Given the description of an element on the screen output the (x, y) to click on. 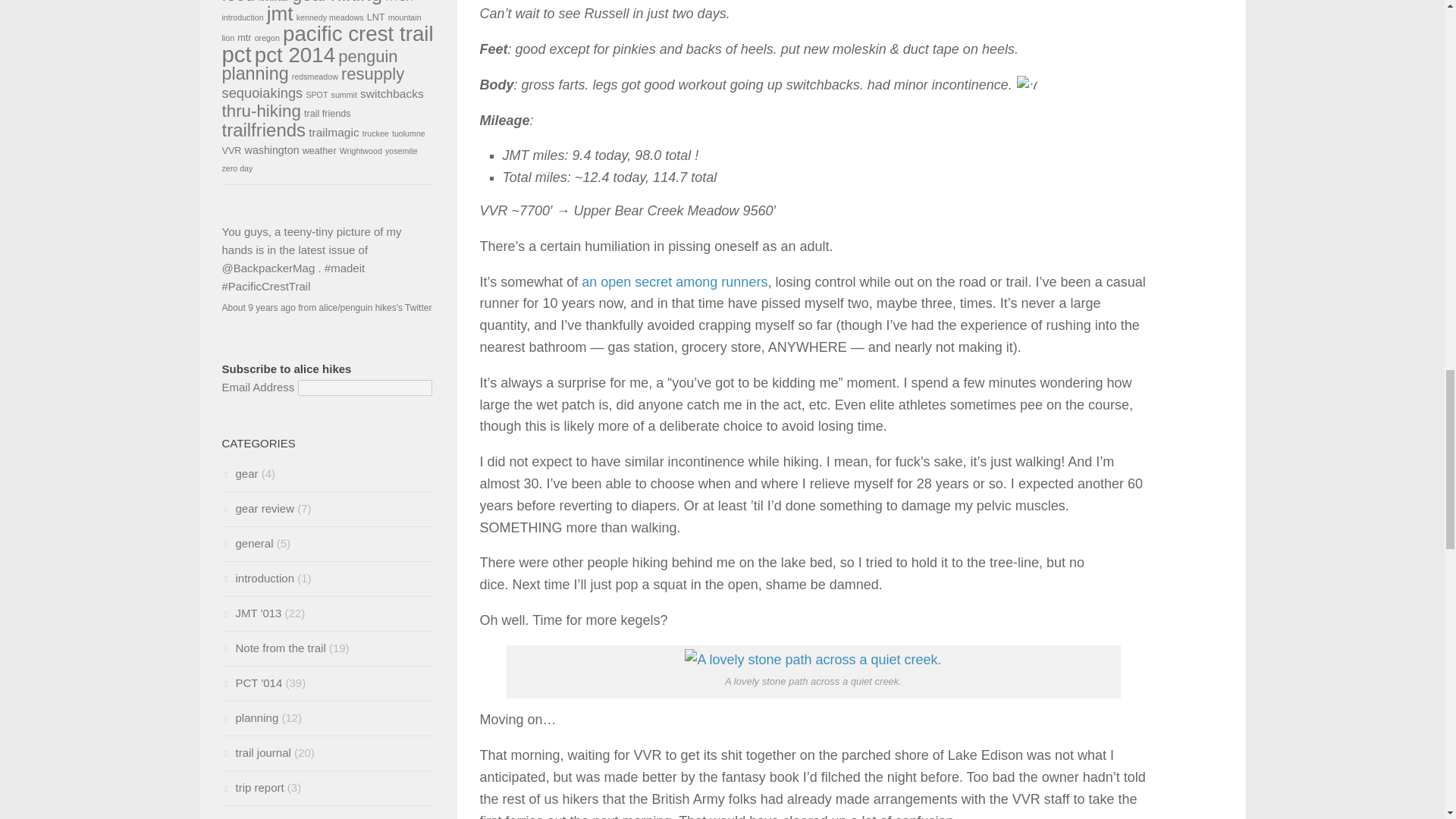
an open secret among runners (673, 281)
